Given the description of an element on the screen output the (x, y) to click on. 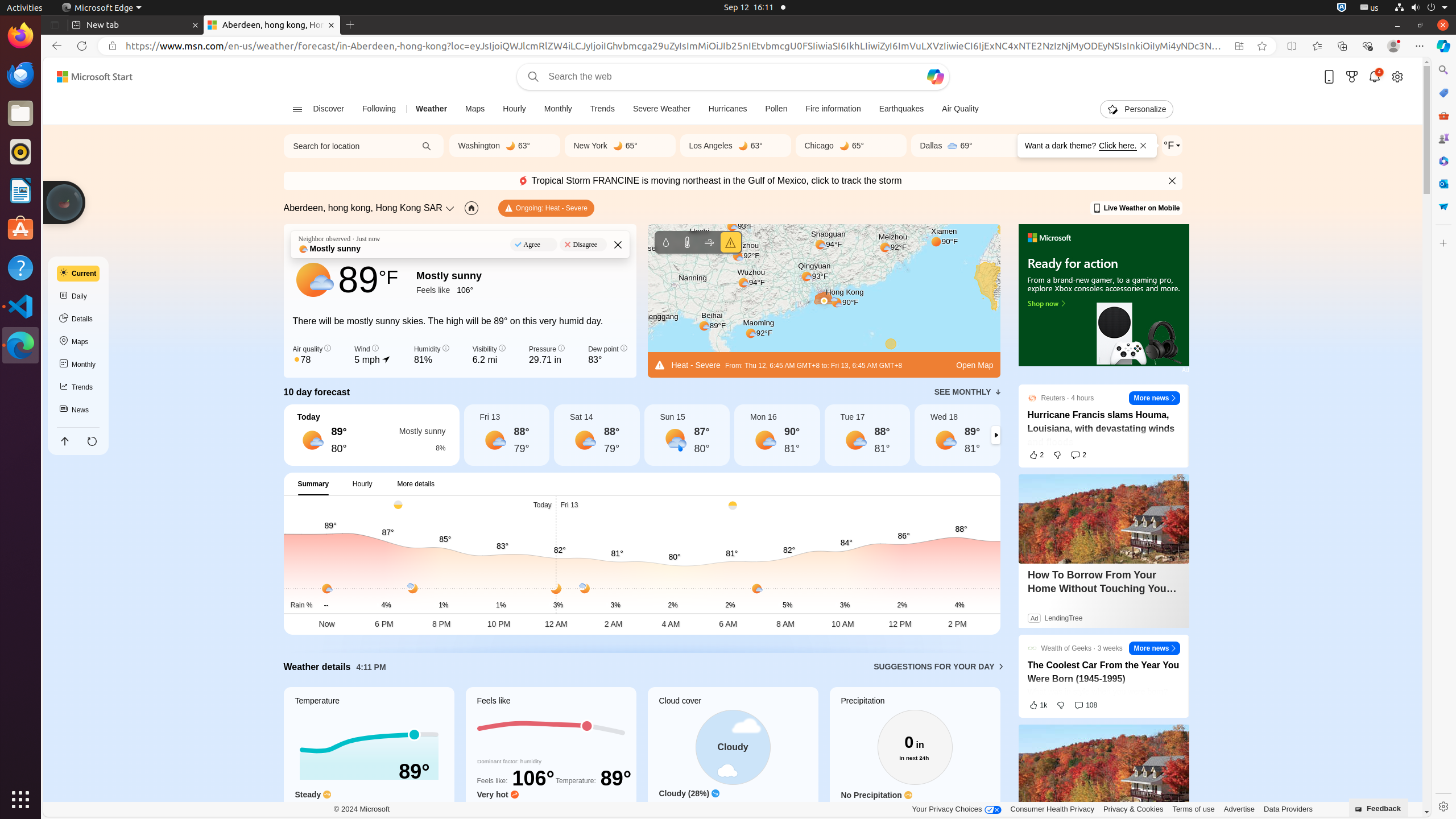
Microsoft Start Element type: link (94, 76)
Wind Element type: push-button (708, 242)
App available. Install Microsoft Start Weather Element type: push-button (1238, 46)
Microsoft Edge Element type: push-button (20, 344)
Los Angeles Clear 63° Element type: push-button (735, 145)
